Given the description of an element on the screen output the (x, y) to click on. 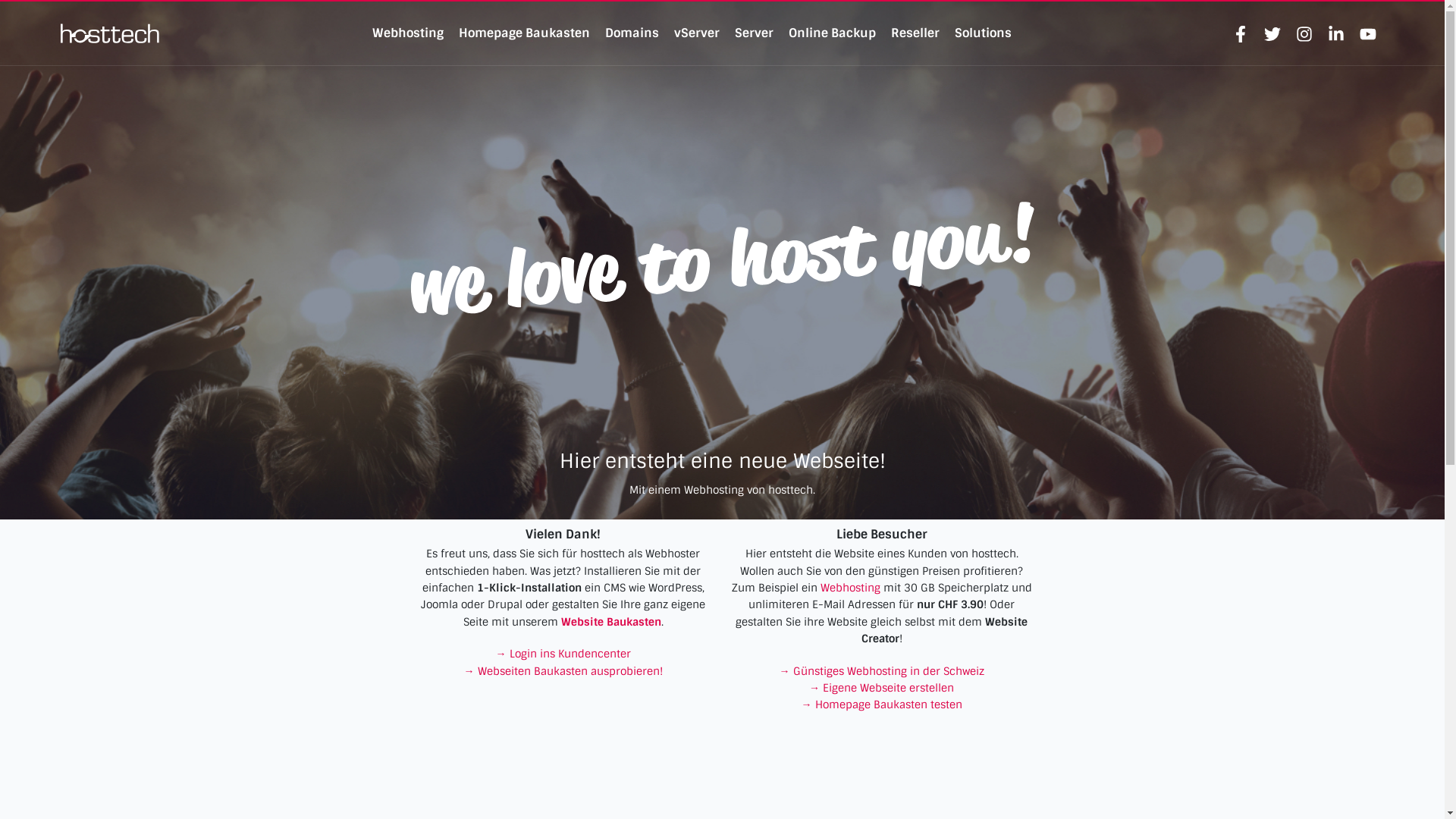
vServer Element type: text (696, 32)
Solutions Element type: text (982, 32)
Domains Element type: text (631, 32)
Reseller Element type: text (915, 32)
Homepage Baukasten Element type: text (523, 32)
Online Backup Element type: text (831, 32)
Website Baukasten Element type: text (611, 621)
Server Element type: text (753, 32)
Webhosting Element type: text (407, 32)
Webhosting Element type: text (850, 587)
